Given the description of an element on the screen output the (x, y) to click on. 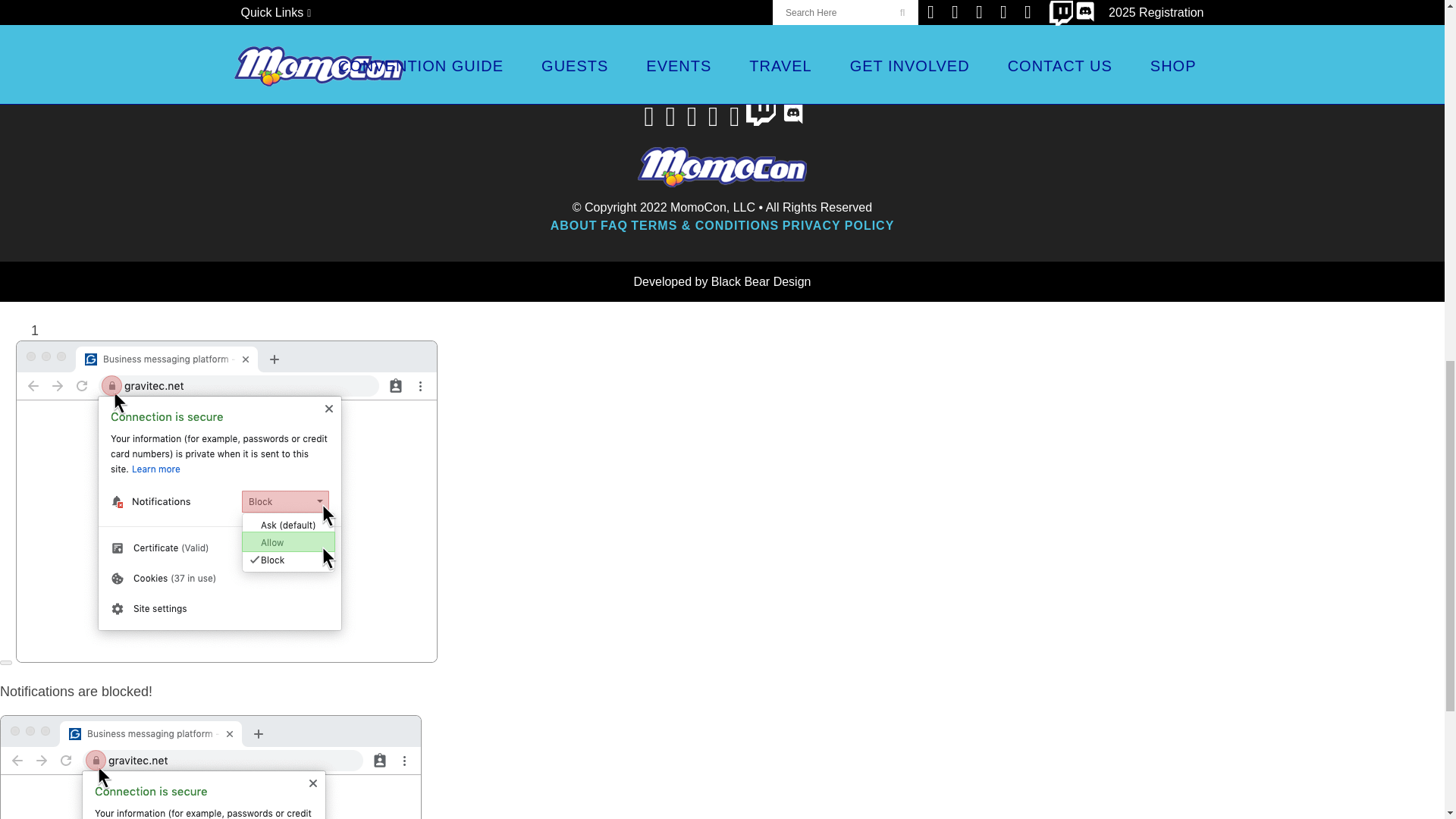
Sign Up (855, 12)
